Given the description of an element on the screen output the (x, y) to click on. 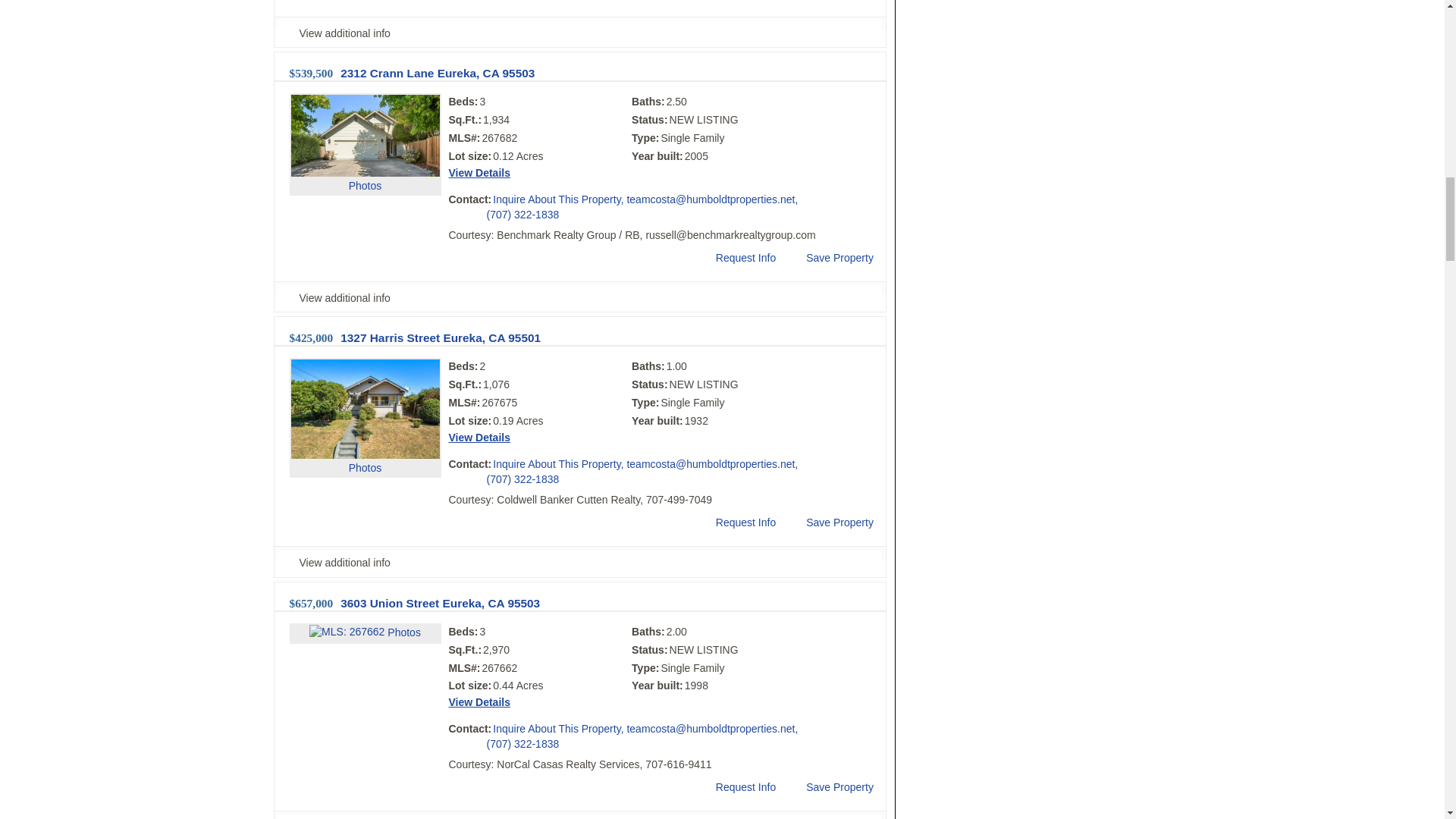
View property remarks and map (580, 562)
View property remarks and map (580, 297)
View property remarks and map (580, 33)
